Given the description of an element on the screen output the (x, y) to click on. 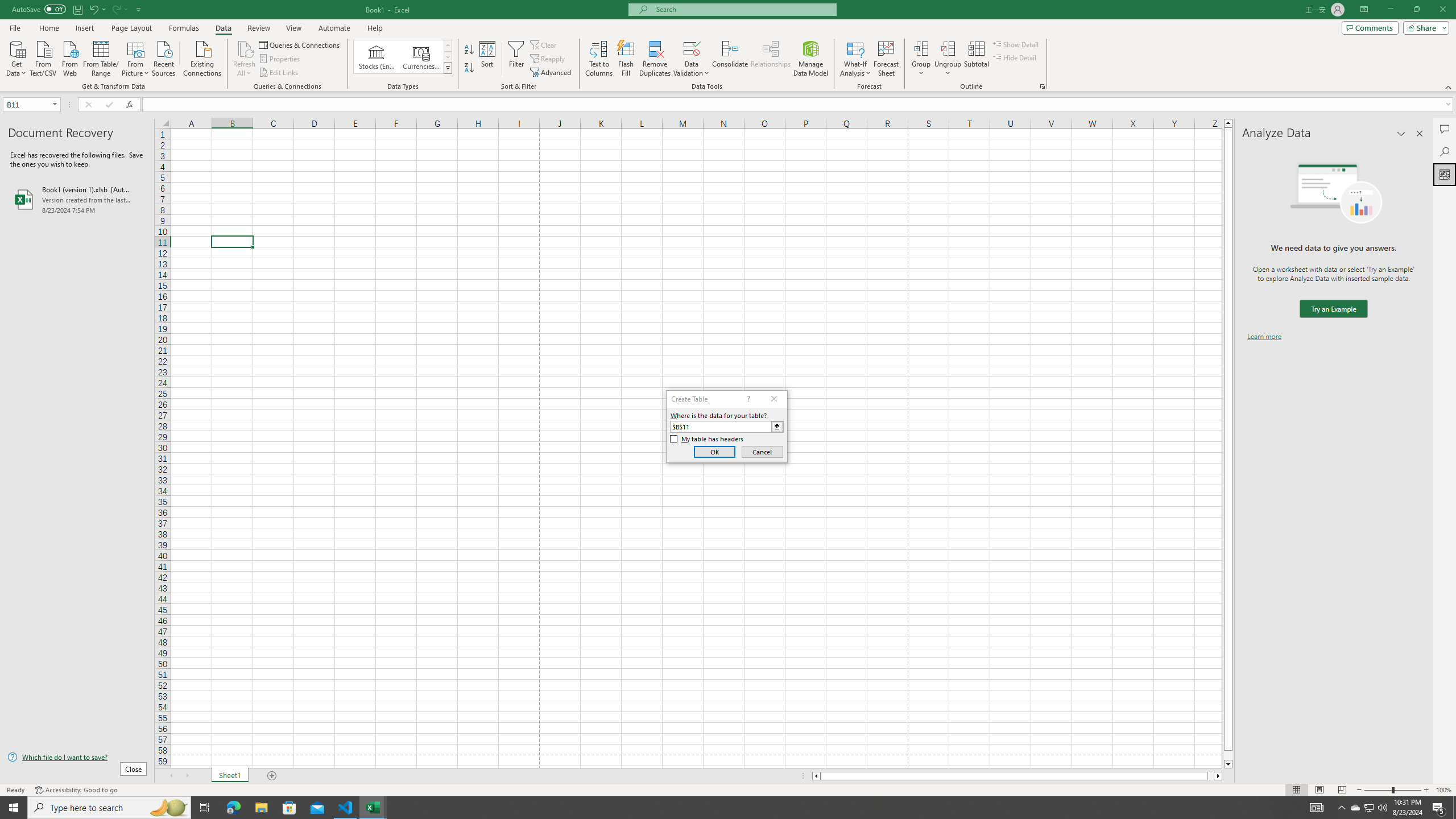
Learn more (1264, 336)
Sort Z to A (469, 67)
